Given the description of an element on the screen output the (x, y) to click on. 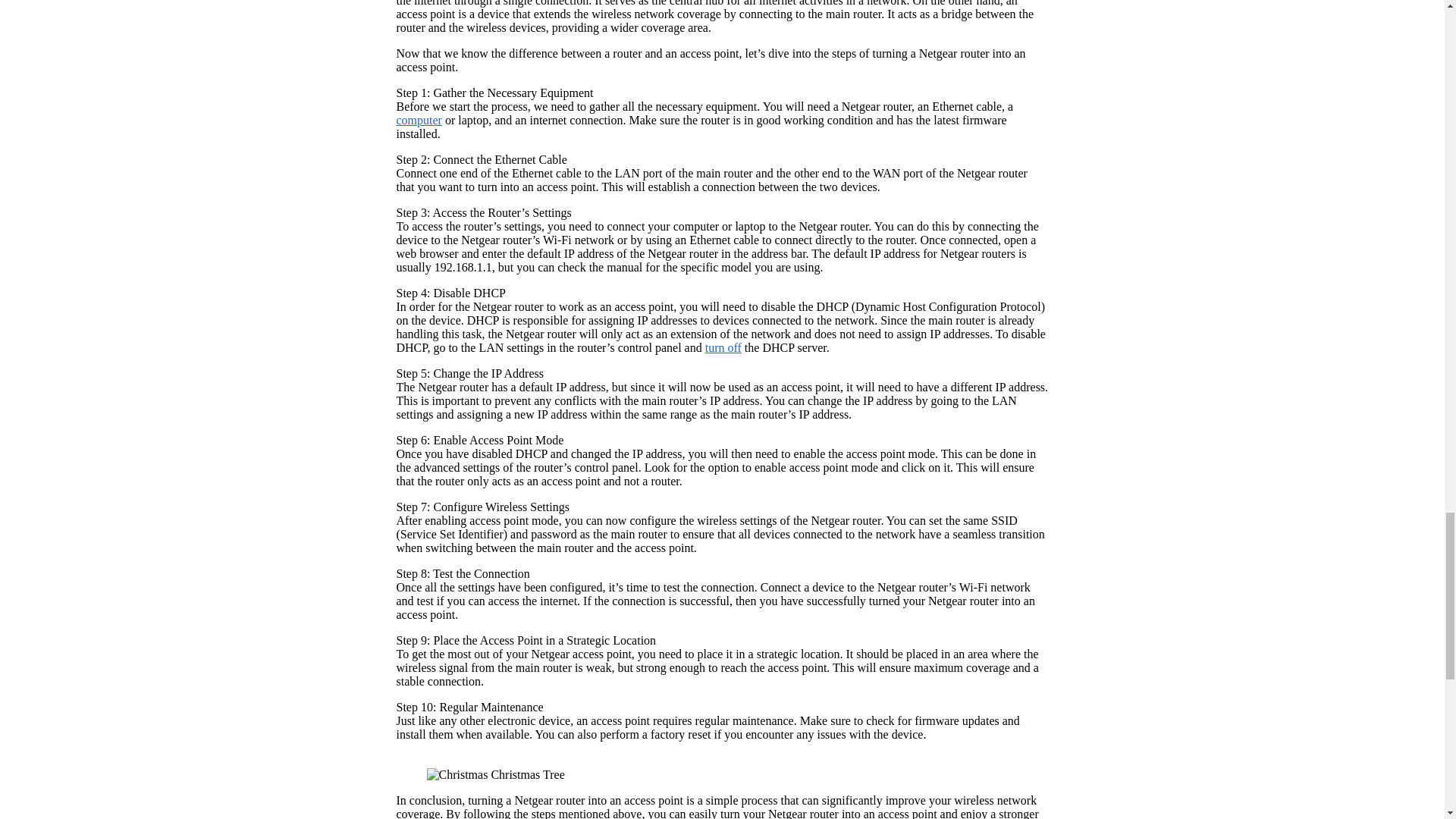
turn off (722, 347)
Christmas Christmas Tree (495, 775)
computer (418, 119)
